Given the description of an element on the screen output the (x, y) to click on. 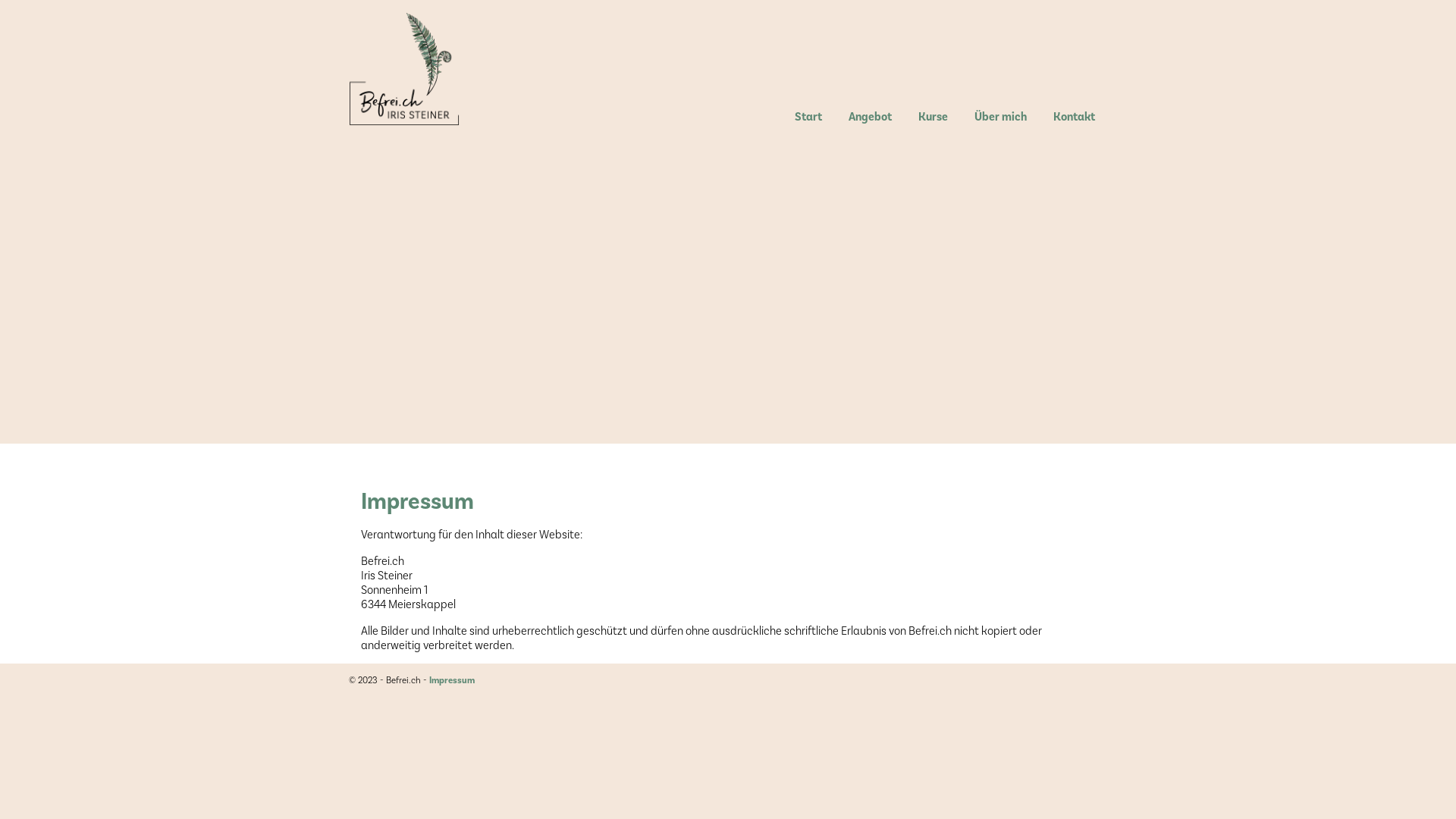
Start Element type: text (808, 118)
Kontakt Element type: text (1074, 118)
Kurse Element type: text (932, 118)
Angebot Element type: text (869, 118)
Impressum Element type: text (451, 679)
